Given the description of an element on the screen output the (x, y) to click on. 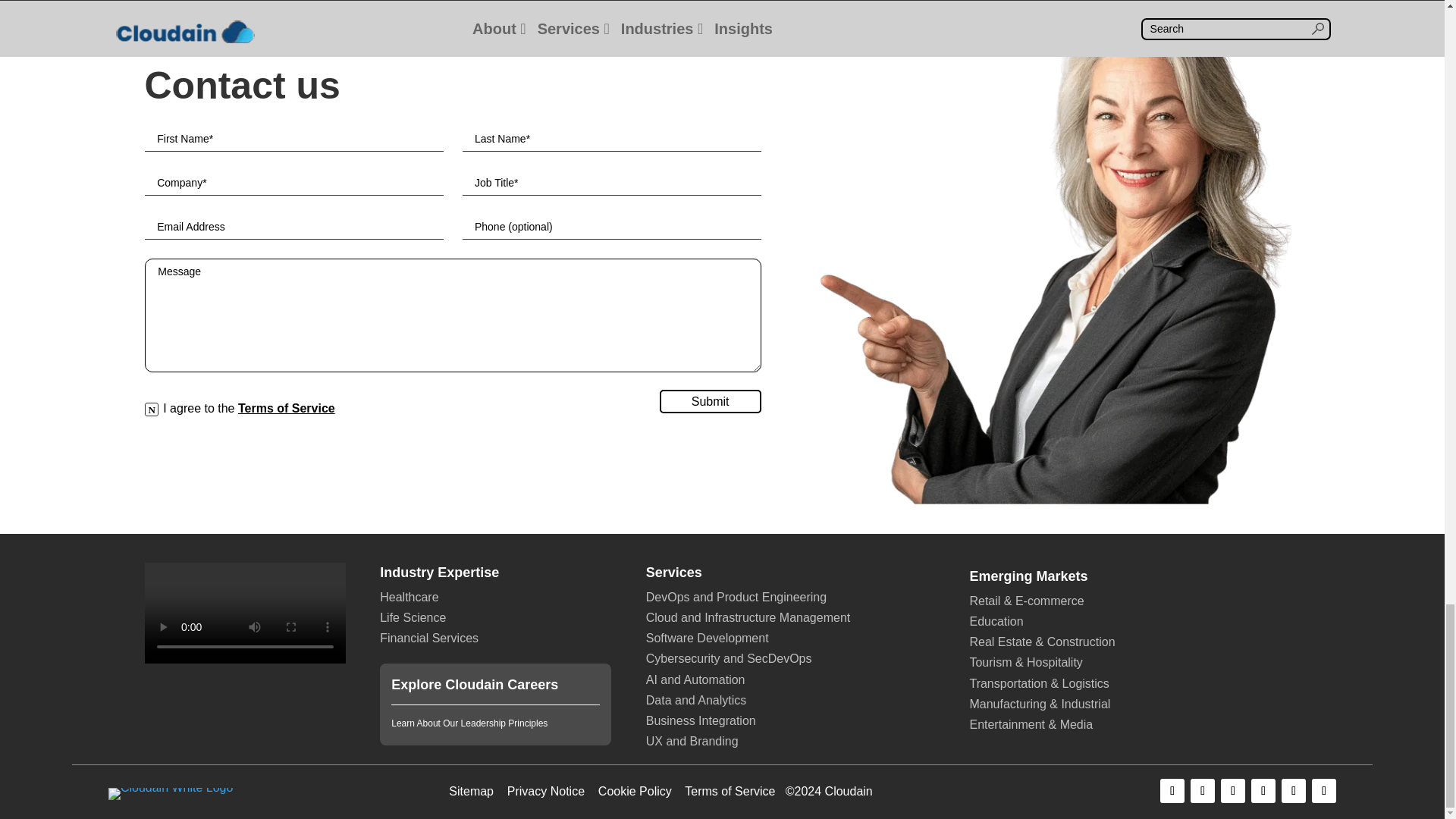
Follow on Pinterest (1293, 790)
Cloudain Logo White (169, 793)
Follow on Instagram (1262, 790)
Follow on Facebook (1172, 790)
Follow on LinkedIn (1232, 790)
Follow on X (1202, 790)
